Given the description of an element on the screen output the (x, y) to click on. 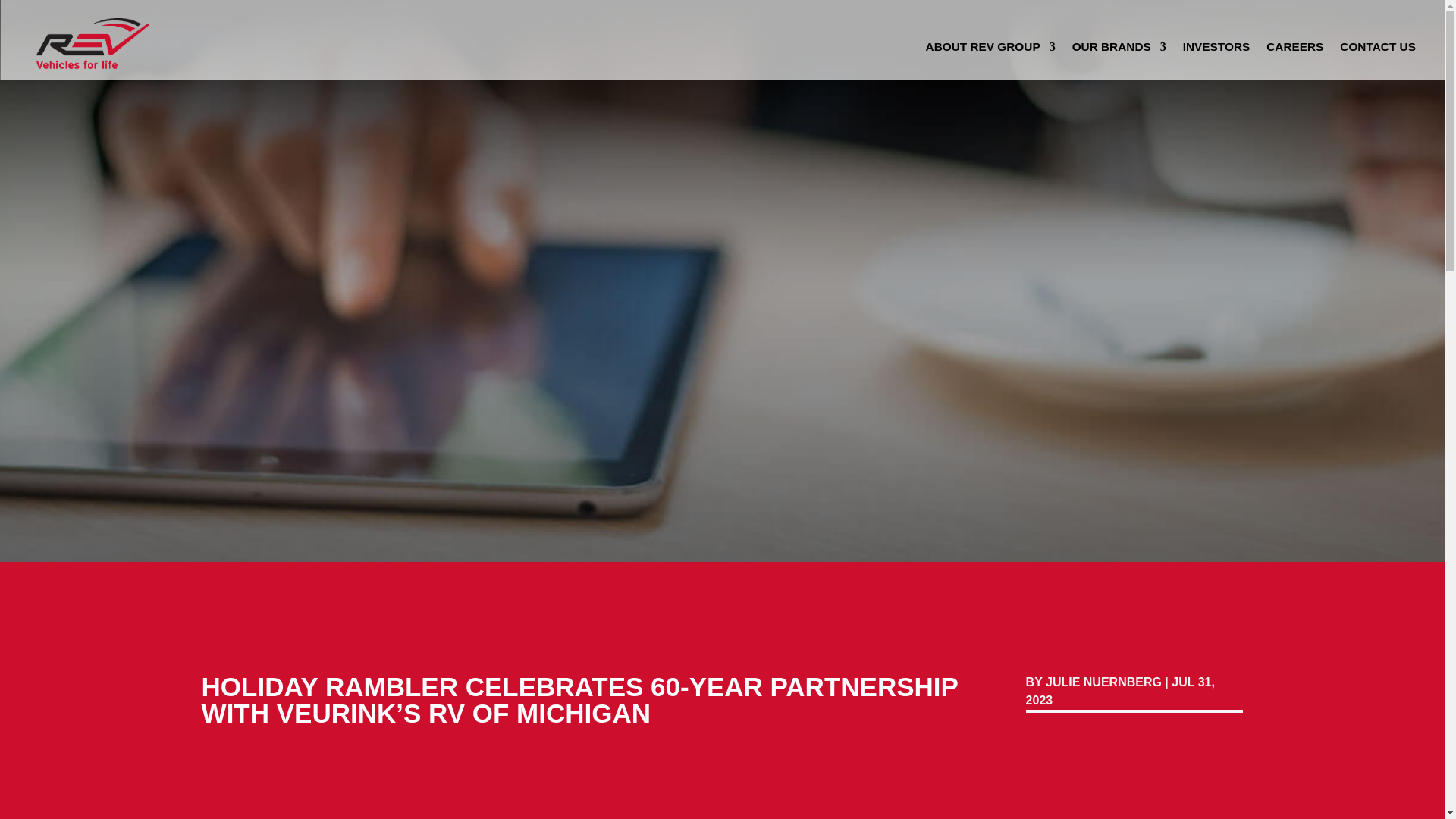
ABOUT REV GROUP (990, 49)
REV-logo (91, 39)
OUR BRANDS (1118, 49)
INVESTORS (1215, 49)
CAREERS (1294, 49)
CONTACT US (1377, 49)
Posts by Julie Nuernberg (1103, 681)
